Given the description of an element on the screen output the (x, y) to click on. 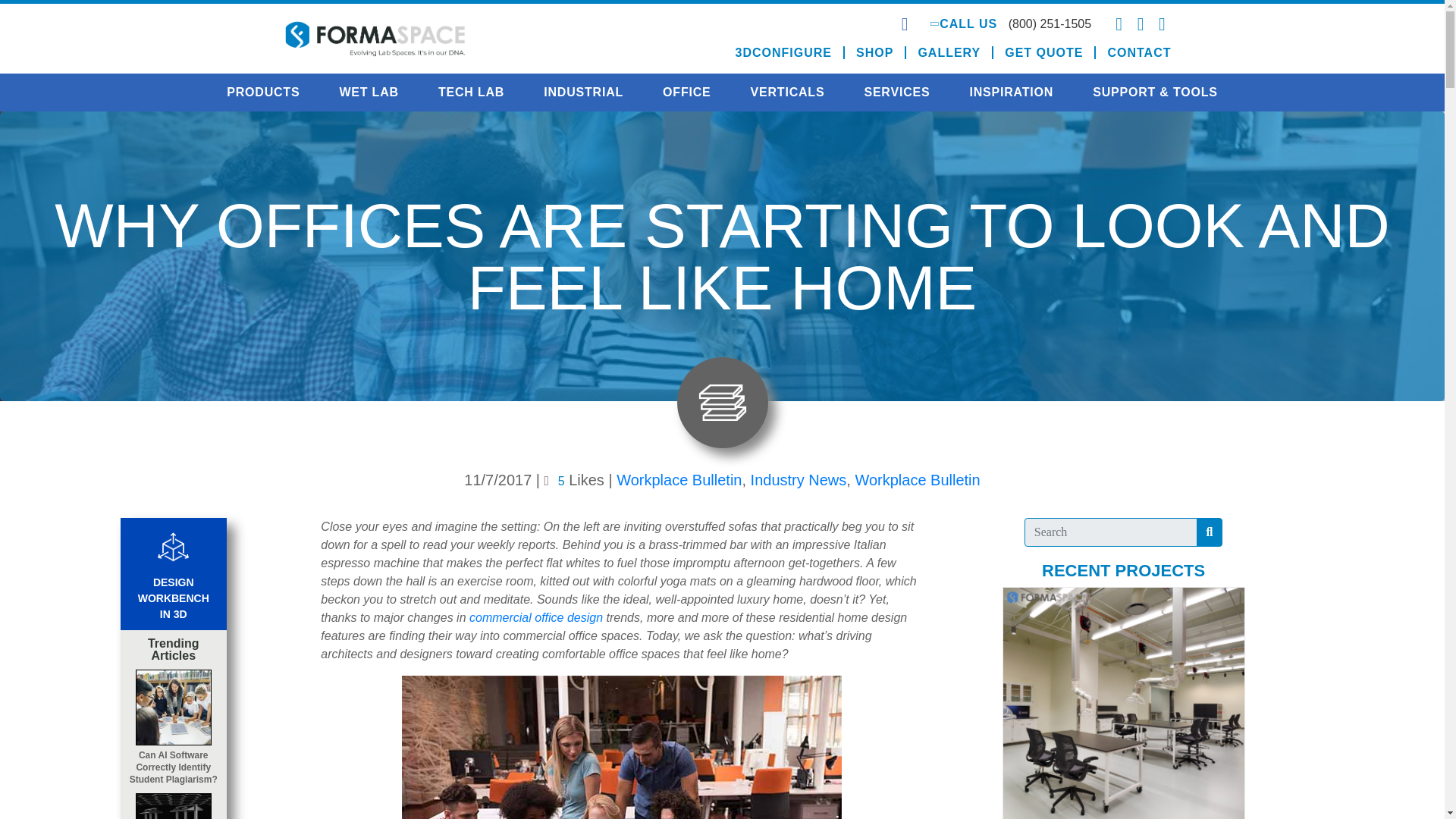
GALLERY (948, 51)
SHOP (874, 51)
CONTACT (1133, 51)
3DCONFIGURE (783, 51)
PRODUCTS (262, 92)
GET QUOTE (1044, 51)
